Given the description of an element on the screen output the (x, y) to click on. 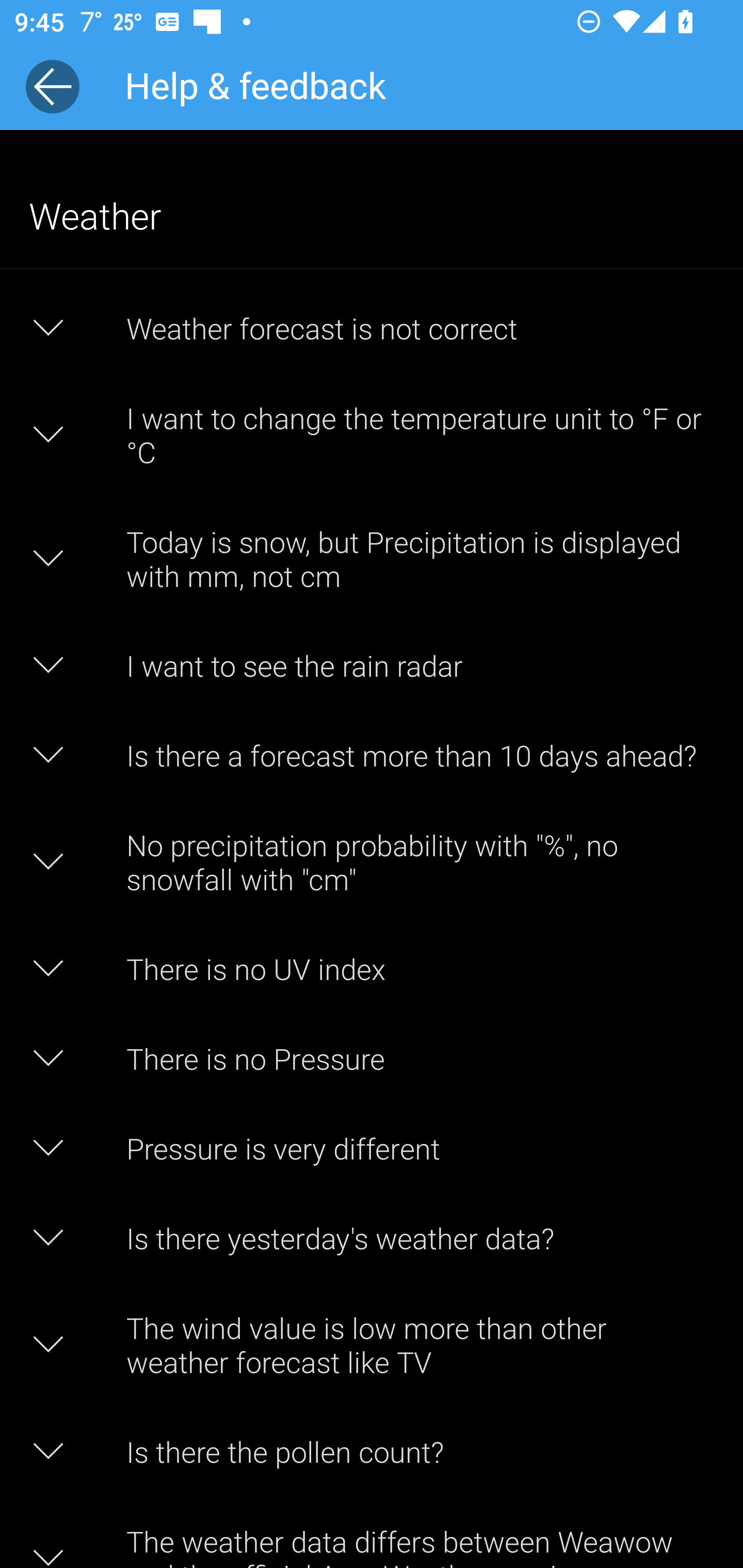
Weather forecast is not correct  (371, 328)
I want to see the rain radar  (371, 665)
Is there a forecast more than 10 days ahead?  (371, 754)
There is no UV index  (371, 967)
There is no Pressure  (371, 1057)
Pressure is very different  (371, 1148)
Is there yesterday's weather data?  (371, 1237)
Is there the pollen count?  (371, 1450)
